Given the description of an element on the screen output the (x, y) to click on. 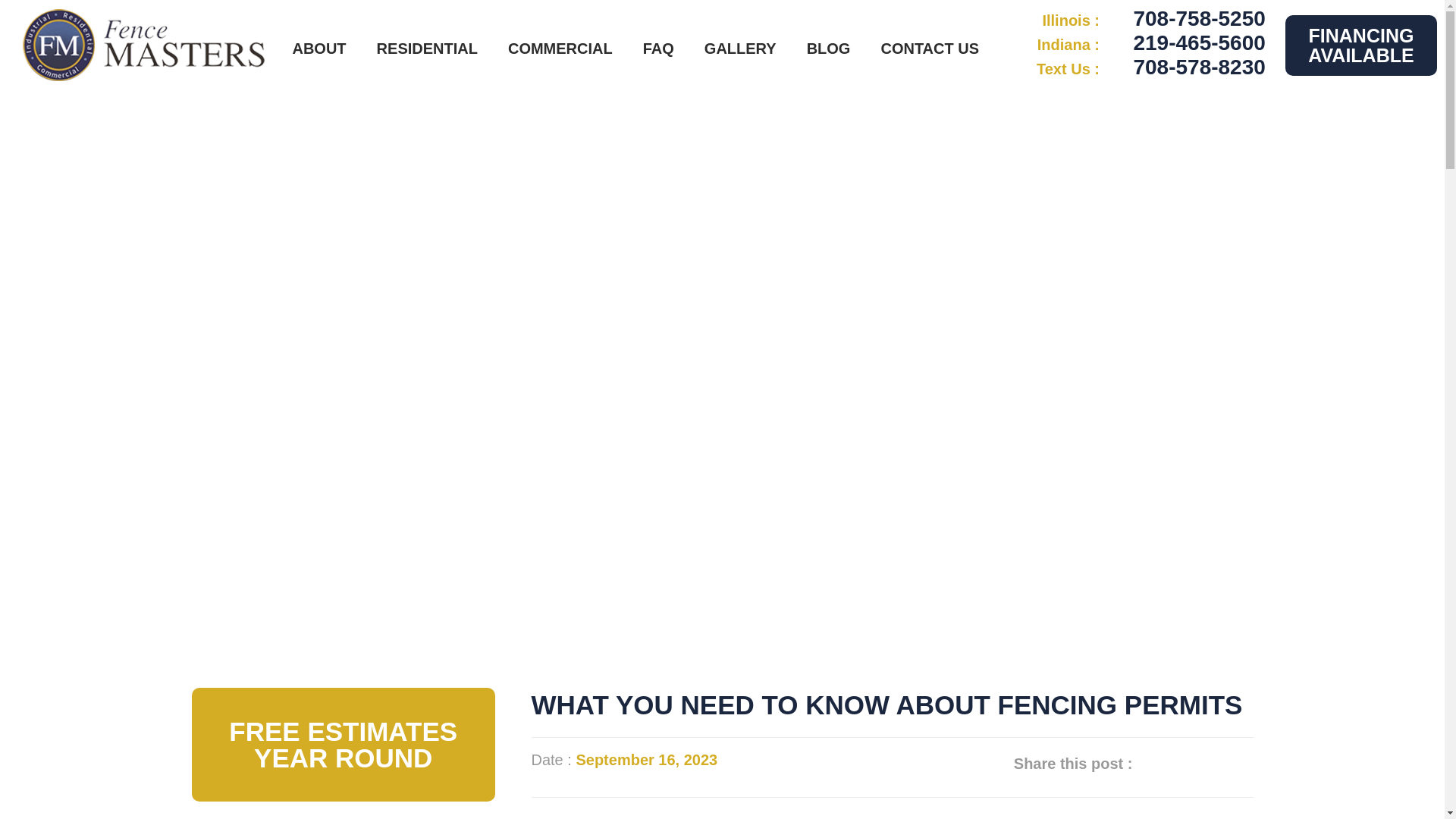
FAQ (658, 47)
GALLERY (740, 47)
ABOUT (319, 47)
Go to the Fencing category archives. (579, 410)
Go to Blog. (513, 410)
Go to Fence Masters. (454, 410)
COMMERCIAL (560, 47)
RESIDENTIAL (427, 47)
BLOG (828, 47)
